Given the description of an element on the screen output the (x, y) to click on. 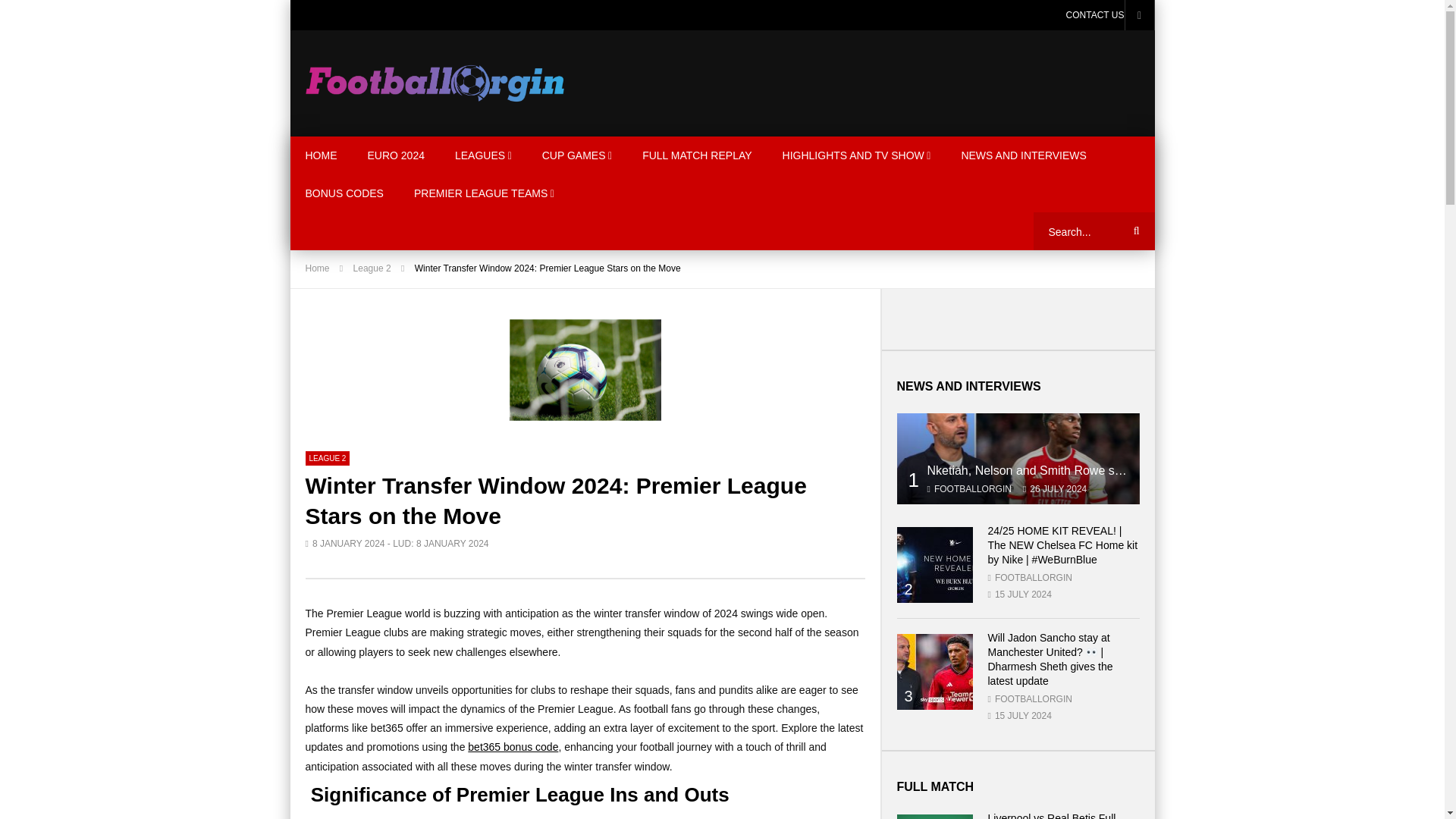
CONTACT US (1094, 15)
Notifications (1139, 15)
LEAGUES (483, 155)
NEWS AND INTERVIEWS (1022, 155)
PREMIER LEAGUE TEAMS (483, 193)
FootballOrgin (433, 83)
League 2 (326, 458)
FULL MATCH REPLAY (697, 155)
Search (1133, 231)
HOME (320, 155)
EURO 2024 (395, 155)
HIGHLIGHTS AND TV SHOW (856, 155)
BONUS CODES (343, 193)
CUP GAMES (577, 155)
